Given the description of an element on the screen output the (x, y) to click on. 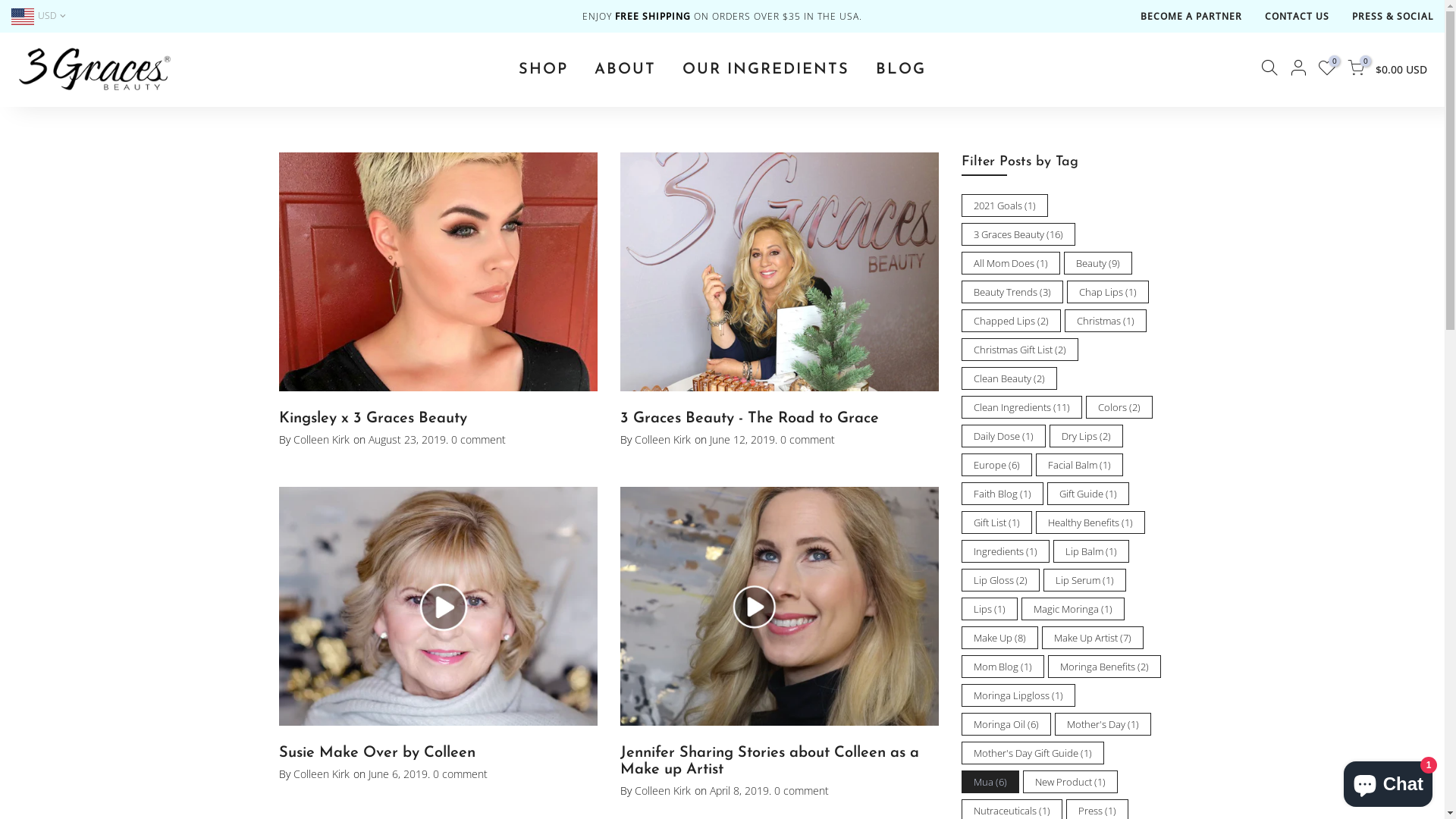
3 Graces Beauty (16) Element type: text (1018, 233)
Lip Serum (1) Element type: text (1084, 579)
Healthy Benefits (1) Element type: text (1090, 522)
Daily Dose (1) Element type: text (1003, 435)
0 comment Element type: text (476, 439)
Facial Balm (1) Element type: text (1079, 464)
Christmas (1) Element type: text (1105, 320)
Beauty (9) Element type: text (1097, 262)
Ingredients (1) Element type: text (1005, 550)
3 Graces Beauty - The Road to Grace Element type: text (749, 418)
Lip Balm (1) Element type: text (1090, 550)
0 comment Element type: text (805, 439)
Christmas Gift List (2) Element type: text (1019, 349)
SHOP Element type: text (542, 69)
All Mom Does (1) Element type: text (1010, 262)
Mua (6) Element type: text (990, 781)
Kingsley x 3 Graces Beauty Element type: text (373, 418)
2021 Goals (1) Element type: text (1004, 205)
Europe (6) Element type: text (996, 464)
Lip Gloss (2) Element type: text (1000, 579)
Dry Lips (2) Element type: text (1086, 435)
CONTACT US Element type: text (1296, 15)
New Product (1) Element type: text (1069, 781)
PRESS & SOCIAL Element type: text (1392, 15)
Gift Guide (1) Element type: text (1087, 493)
0 comment Element type: text (457, 773)
Mother'S Day (1) Element type: text (1102, 723)
ABOUT Element type: text (624, 69)
Moringa Benefits (2) Element type: text (1104, 666)
BECOME A PARTNER Element type: text (1191, 15)
Susie Make Over by Colleen Element type: text (377, 752)
Mom Blog (1) Element type: text (1002, 666)
0 Element type: text (1326, 70)
Chapped Lips (2) Element type: text (1010, 320)
Clean Beauty (2) Element type: text (1009, 378)
Make Up (8) Element type: text (999, 637)
OUR INGREDIENTS Element type: text (765, 69)
BLOG Element type: text (900, 69)
0 Element type: text (1355, 70)
Moringa Lipgloss (1) Element type: text (1018, 695)
Lips (1) Element type: text (989, 608)
Clean Ingredients (11) Element type: text (1021, 406)
0 comment Element type: text (799, 790)
Gift List (1) Element type: text (996, 522)
Jennifer Sharing Stories about Colleen as a Make up Artist Element type: text (769, 761)
Chap Lips (1) Element type: text (1107, 291)
Mother'S Day Gift Guide (1) Element type: text (1032, 752)
Beauty Trends (3) Element type: text (1012, 291)
Faith Blog (1) Element type: text (1002, 493)
Magic Moringa (1) Element type: text (1071, 608)
Moringa Oil (6) Element type: text (1006, 723)
Make Up Artist (7) Element type: text (1092, 637)
Shopify online store chat Element type: hover (1388, 780)
Colors (2) Element type: text (1118, 406)
